Given the description of an element on the screen output the (x, y) to click on. 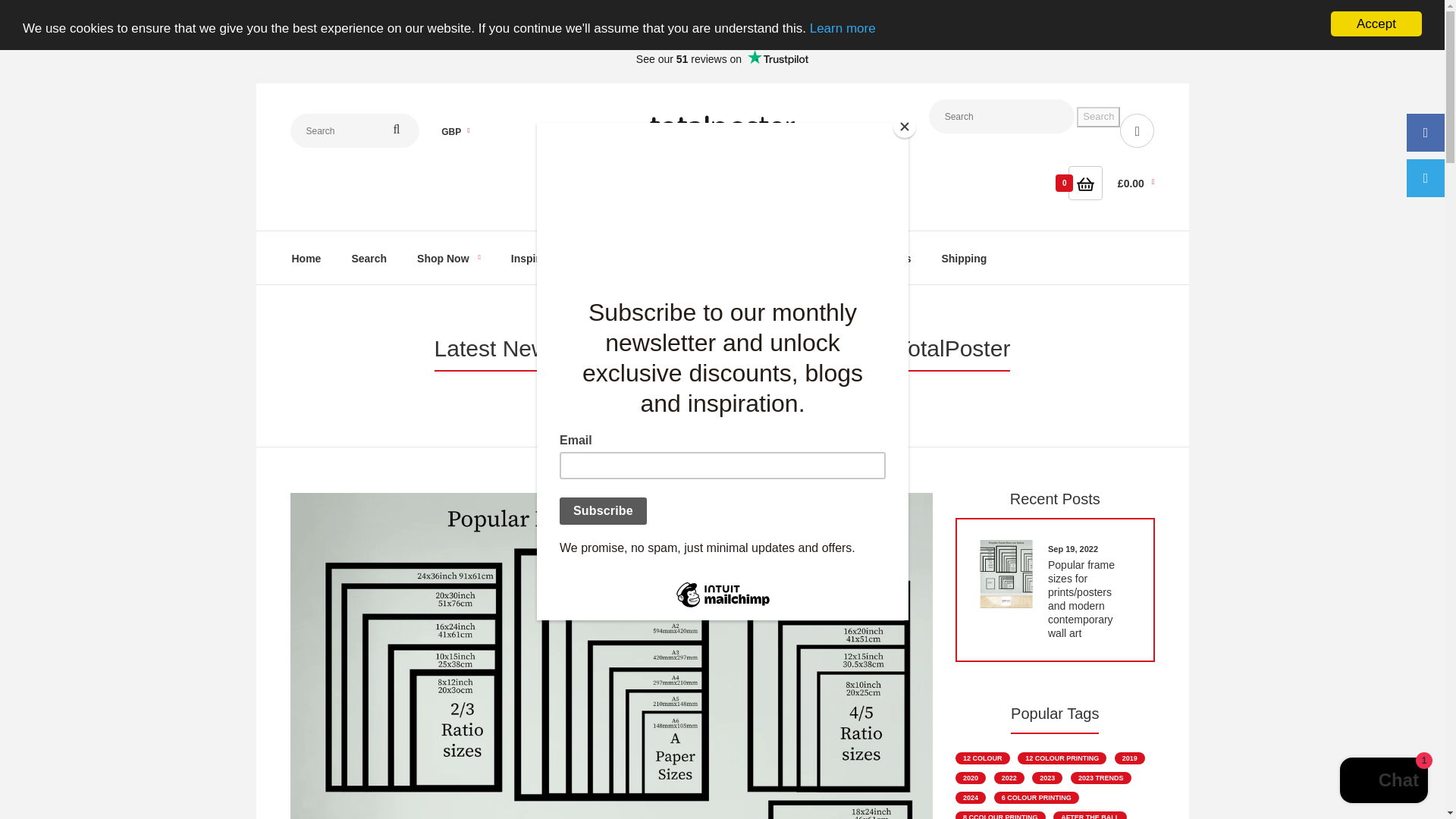
Shop Now (447, 257)
Narrow search to articles also having tag 2022 (1009, 777)
Search (1098, 117)
Narrow search to articles also having tag 12 colour (982, 758)
Customer reviews powered by Trustpilot (721, 58)
Narrow search to articles also having tag 2020 (970, 777)
Narrow search to articles also having tag after the ball (1089, 815)
Narrow search to articles also having tag 2023 (1047, 777)
Narrow search to articles also having tag 2024 (970, 797)
TotalPoster (721, 133)
Home (305, 257)
Search (368, 257)
GBP (454, 110)
Narrow search to articles also having tag 8 ccolour printing (1000, 815)
Learn more (842, 1)
